Given the description of an element on the screen output the (x, y) to click on. 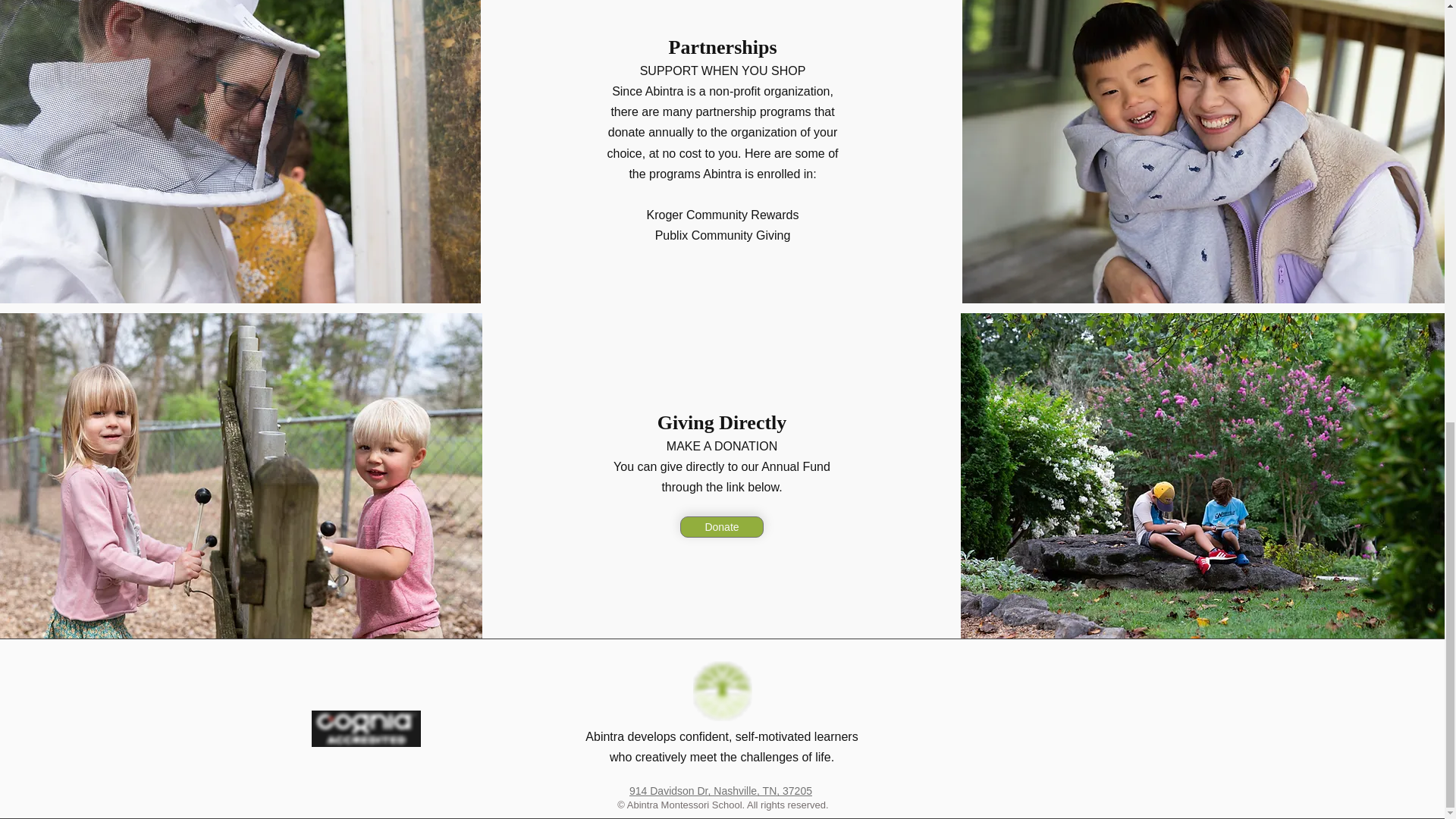
Donate (720, 526)
914 Davidson Dr, Nashville, TN, 37205 (720, 790)
Logo Advanced.png (365, 728)
